Given the description of an element on the screen output the (x, y) to click on. 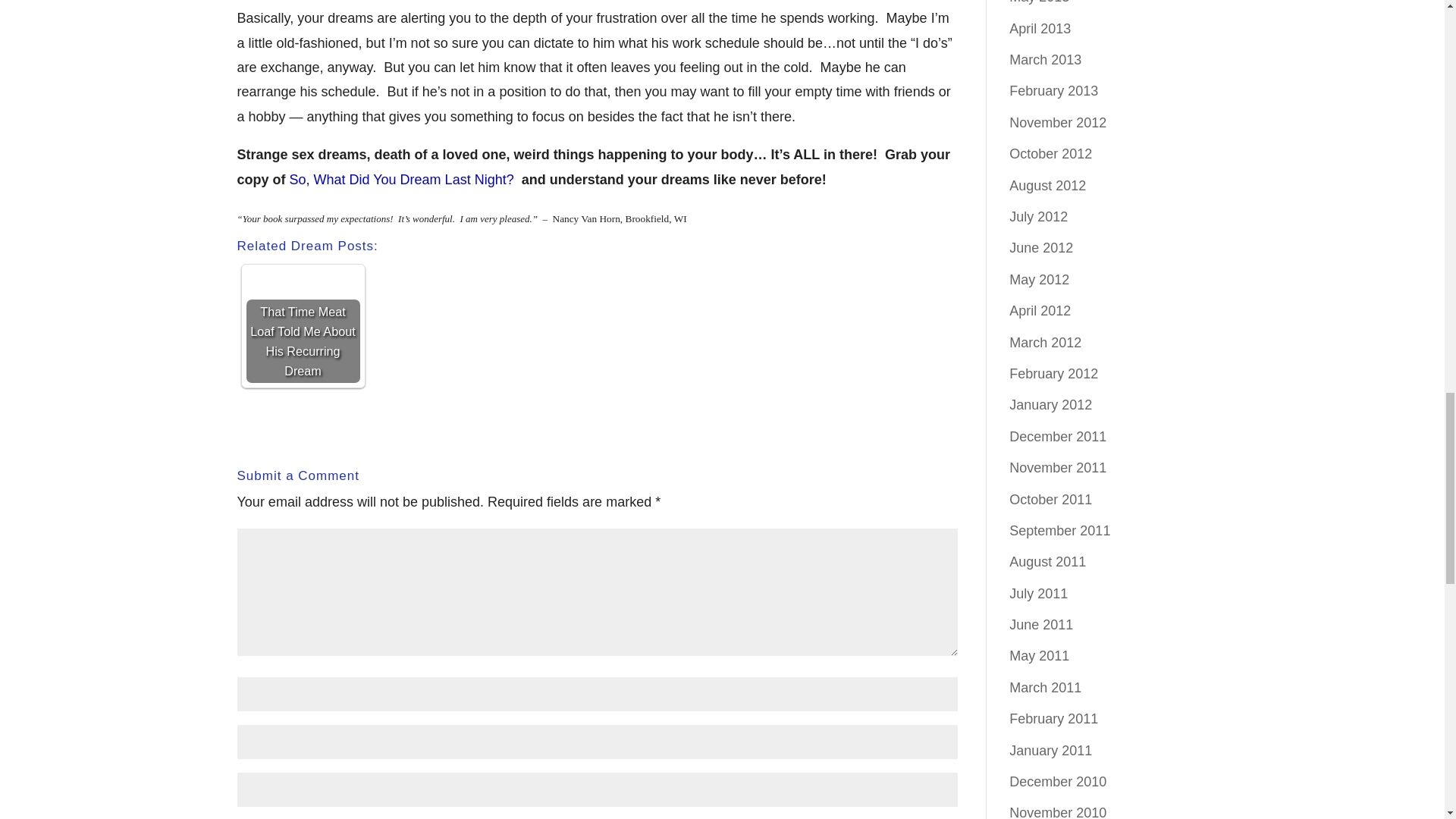
That Time Meat Loaf Told Me About His Recurring Dream (302, 326)
